Given the description of an element on the screen output the (x, y) to click on. 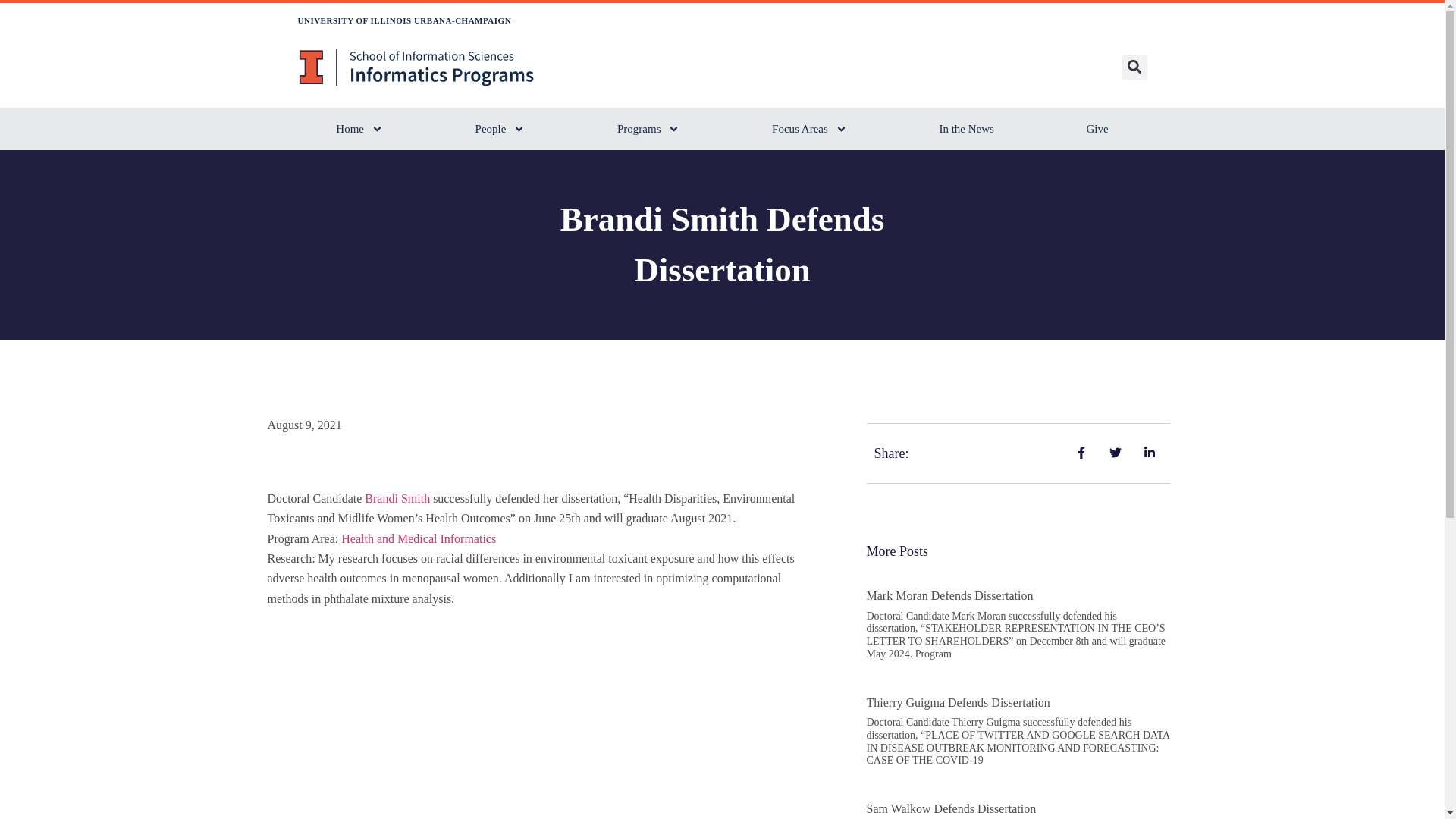
People (499, 128)
Programs (647, 128)
In the News (967, 128)
UNIVERSITY OF ILLINOIS URBANA-CHAMPAIGN (404, 20)
Focus Areas (808, 128)
Home (358, 128)
Give (1097, 128)
